Given the description of an element on the screen output the (x, y) to click on. 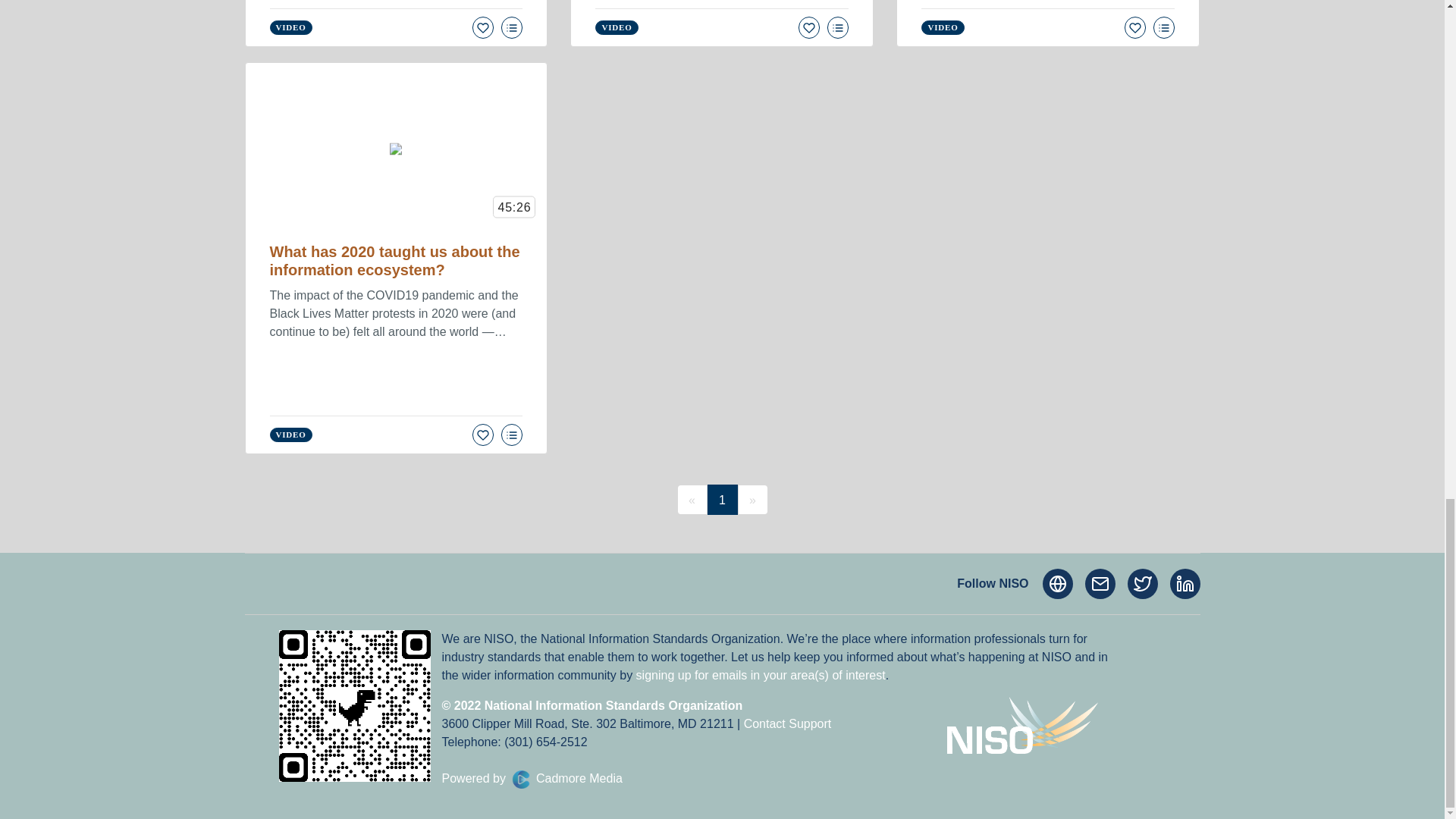
Powered byCadmore Media (531, 778)
What has 2020 taught us about the information ecosystem? (394, 260)
Contact Support (787, 723)
